Given the description of an element on the screen output the (x, y) to click on. 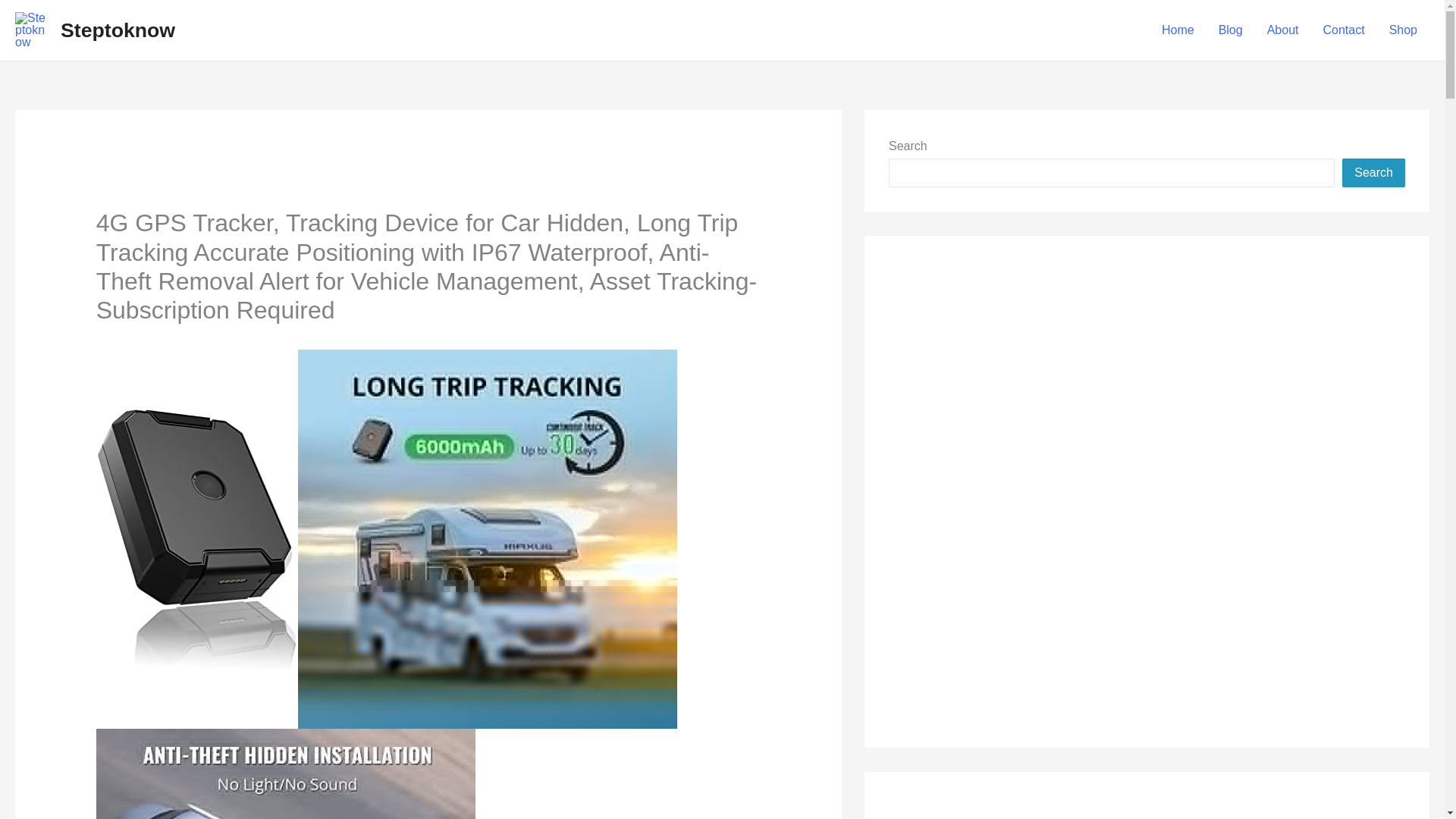
Shop (1403, 29)
Contact (1342, 29)
About (1283, 29)
Steptoknow (117, 29)
Home (1178, 29)
Blog (1231, 29)
